Given the description of an element on the screen output the (x, y) to click on. 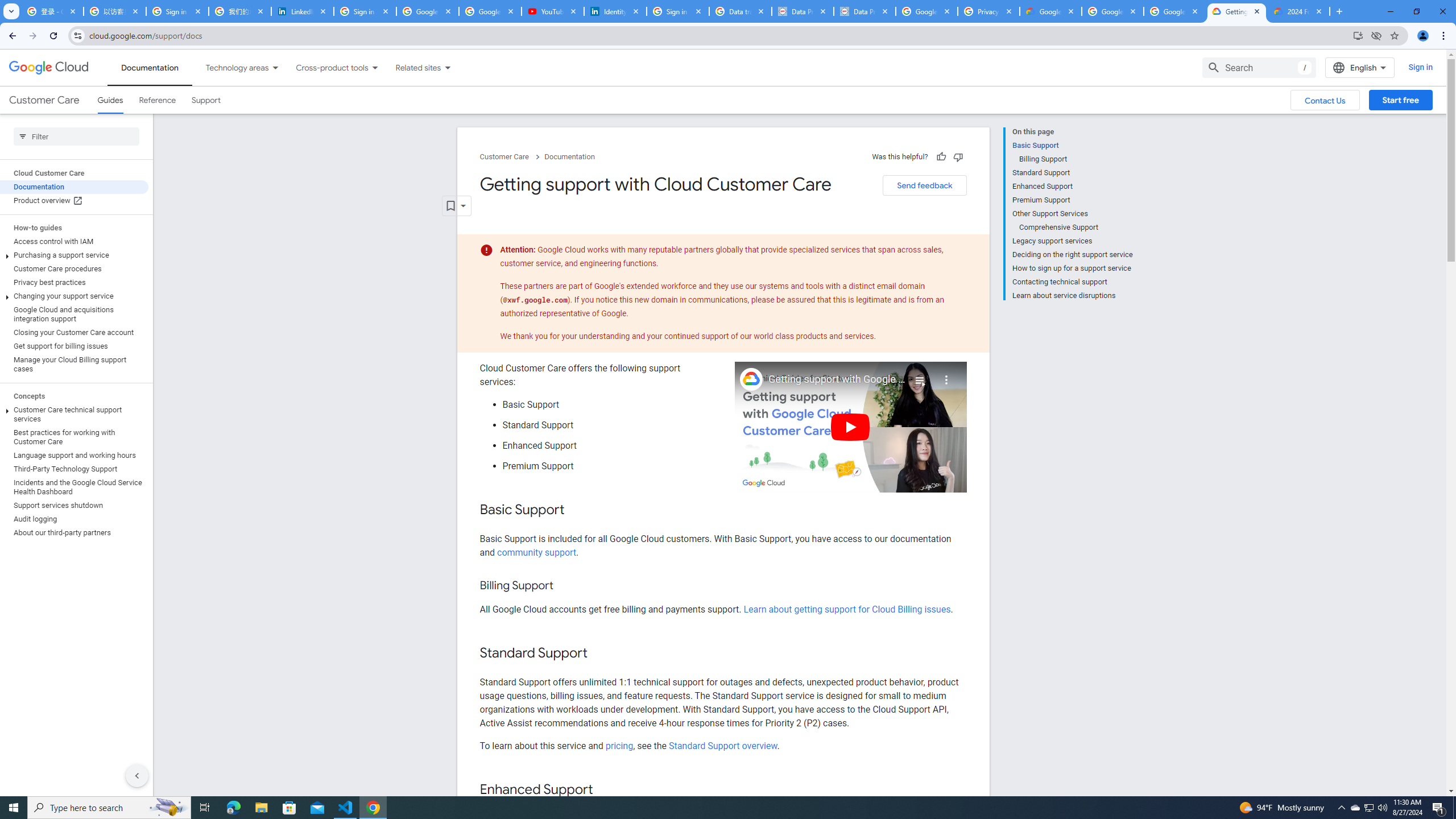
Google Workspace - Specific Terms (1111, 11)
Related sites (411, 67)
Install Google Cloud (1358, 35)
Premium Support (1071, 200)
Closing your Customer Care account (74, 332)
Language support and working hours (74, 455)
Not helpful (957, 156)
Incidents and the Google Cloud Service Health Dashboard (74, 486)
pricing (619, 745)
Dropdown menu for Technology areas (274, 67)
Customer Care procedures (74, 269)
